Given the description of an element on the screen output the (x, y) to click on. 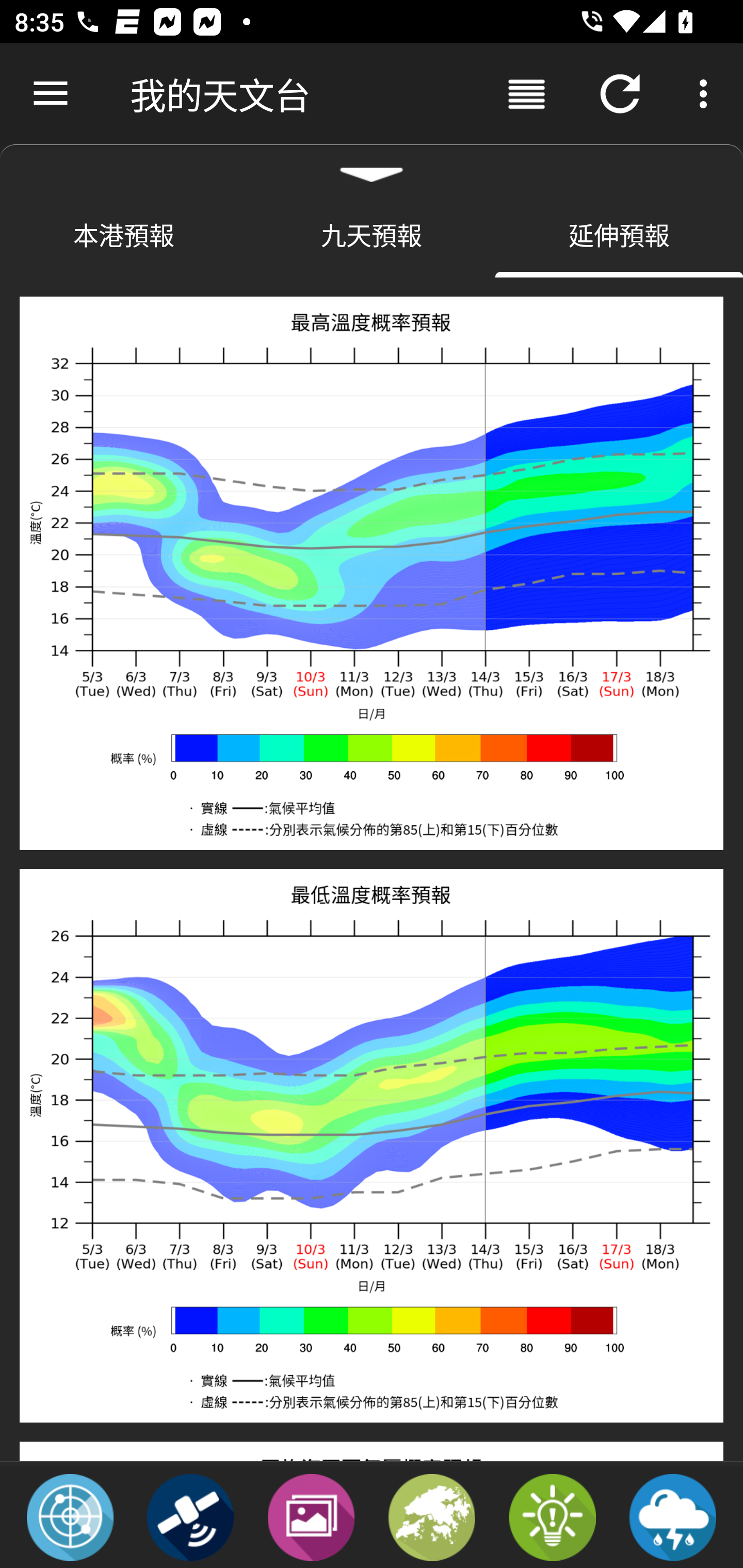
向上瀏覽 (50, 93)
直向佈局 (525, 93)
重新整理 (619, 93)
更多選項 (706, 93)
隱藏 (371, 167)
本港預報 (123, 234)
九天預報 (371, 234)
雷達圖像 (69, 1516)
衛星圖像 (190, 1516)
天氣照片 (310, 1516)
分區天氣 (431, 1516)
天氣提示 (551, 1516)
定點降雨及閃電預報 (672, 1516)
